Given the description of an element on the screen output the (x, y) to click on. 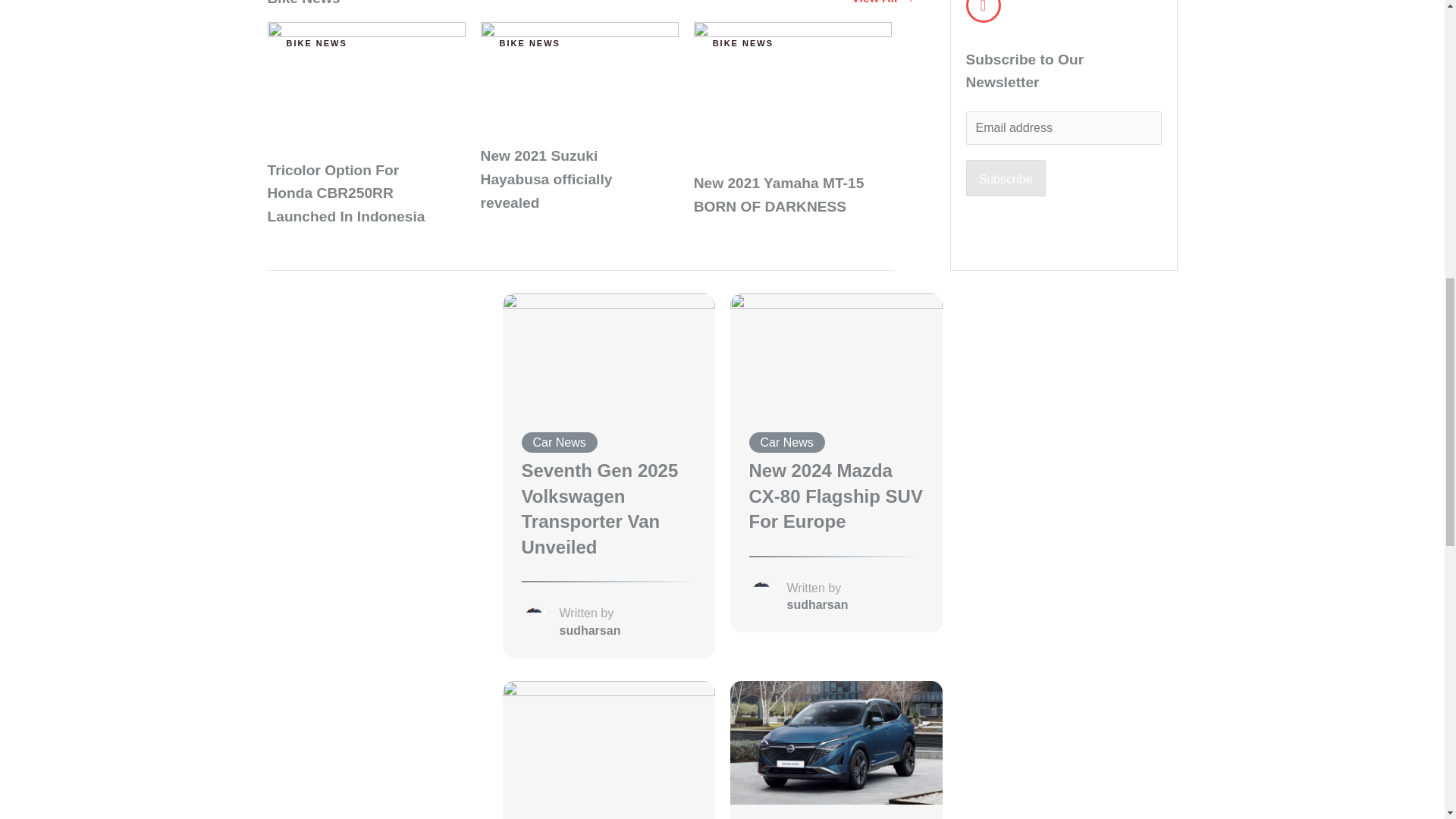
New 2021 Yamaha MT-15 BORN OF DARKNESS (792, 89)
Tricolor Option For Honda CBR250RR Launched In Indonesia (365, 82)
New 2021 Suzuki Hayabusa officially revealed (579, 75)
